Given the description of an element on the screen output the (x, y) to click on. 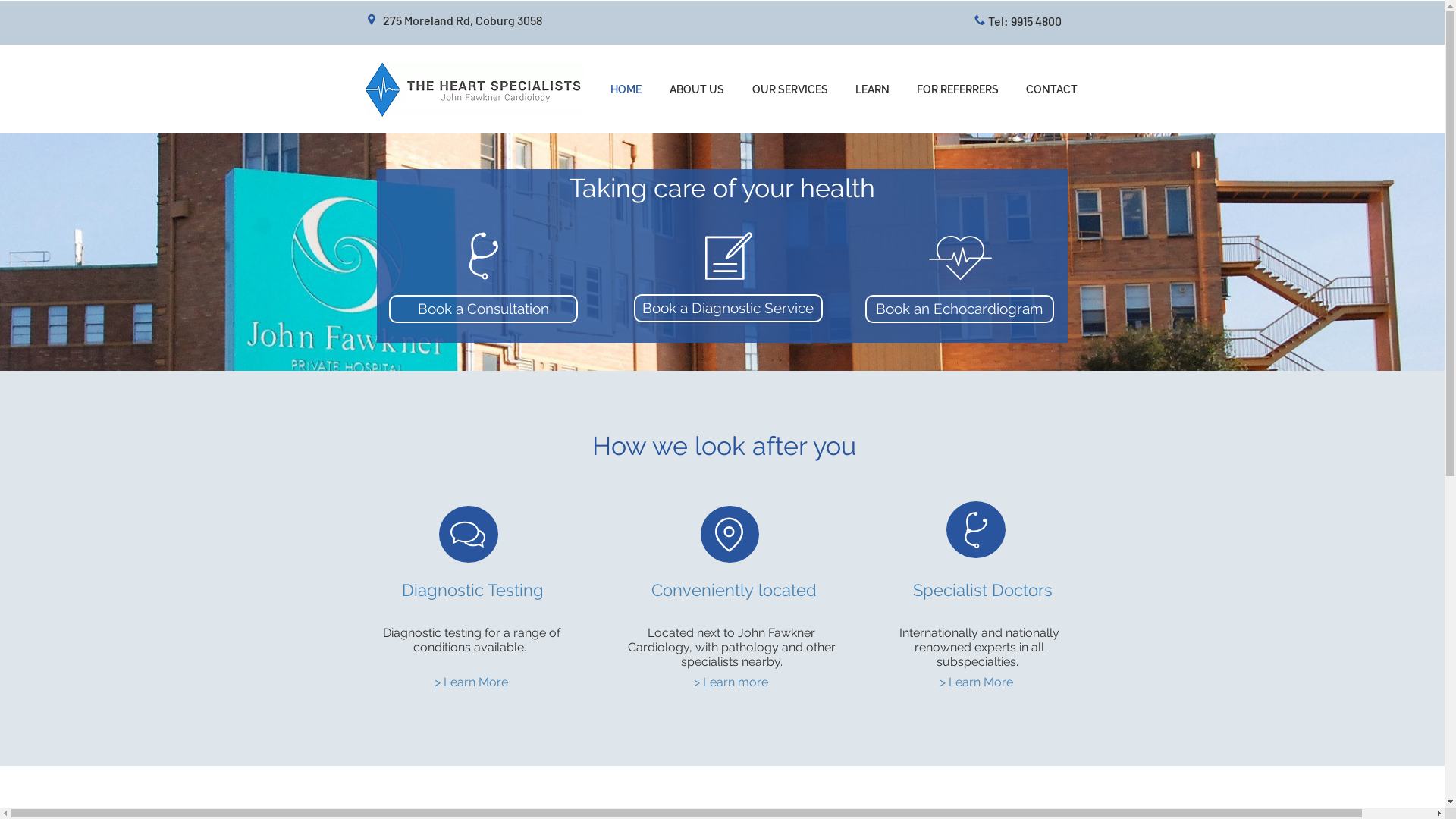
CONTACT Element type: text (1050, 89)
> Learn More Element type: text (975, 682)
OUR SERVICES Element type: text (789, 89)
ABOUT US Element type: text (696, 89)
HOME Element type: text (625, 89)
> Learn More Element type: text (470, 682)
Book an Echocardiogram Element type: text (958, 308)
LEARN Element type: text (872, 89)
FOR REFERRERS Element type: text (956, 89)
Book a Consultation Element type: text (482, 308)
Book a Diagnostic Service Element type: text (727, 308)
> Learn more Element type: text (730, 682)
